Given the description of an element on the screen output the (x, y) to click on. 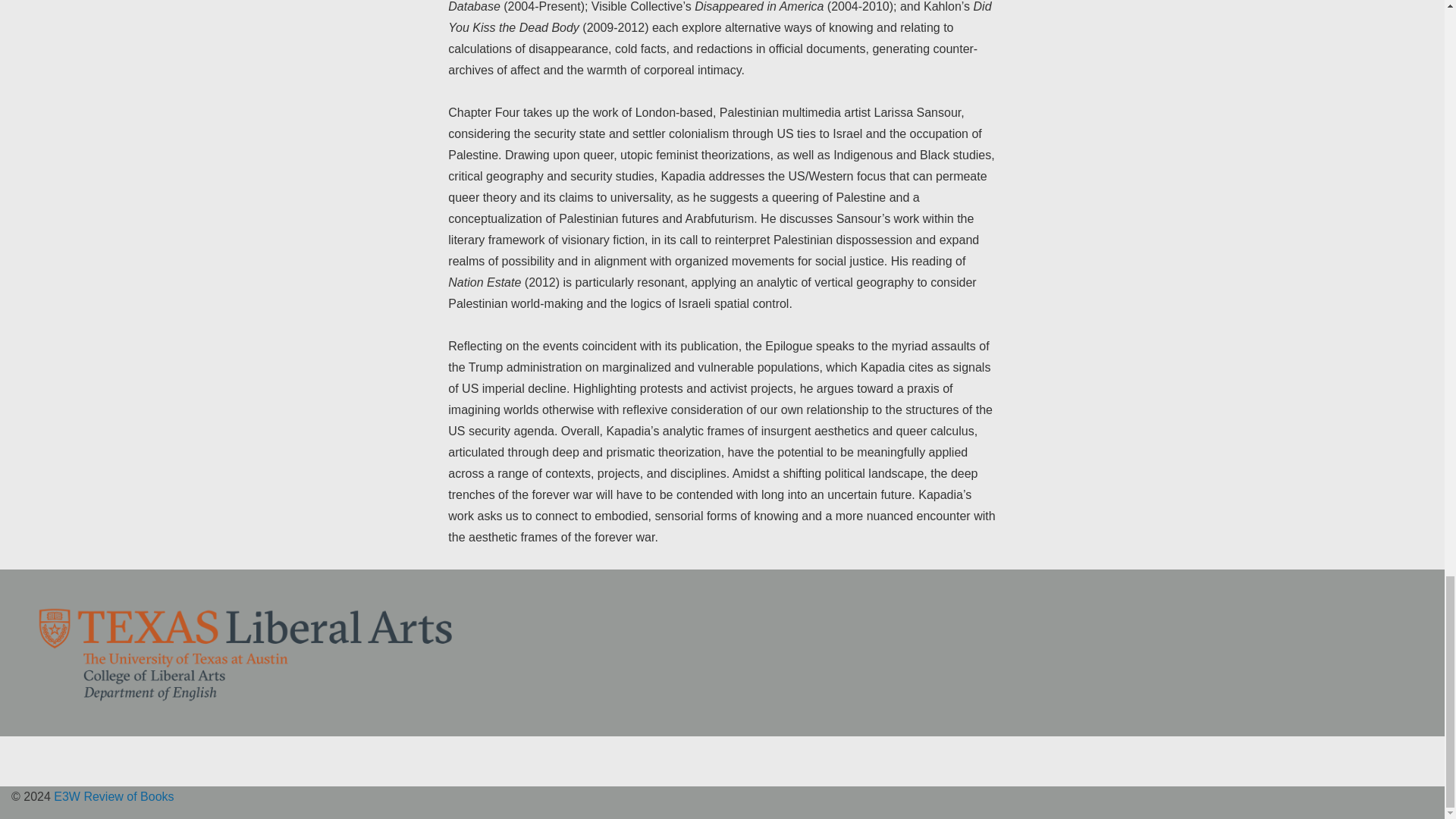
E3W Review of Books (112, 796)
E3W Review of Books (112, 796)
